Given the description of an element on the screen output the (x, y) to click on. 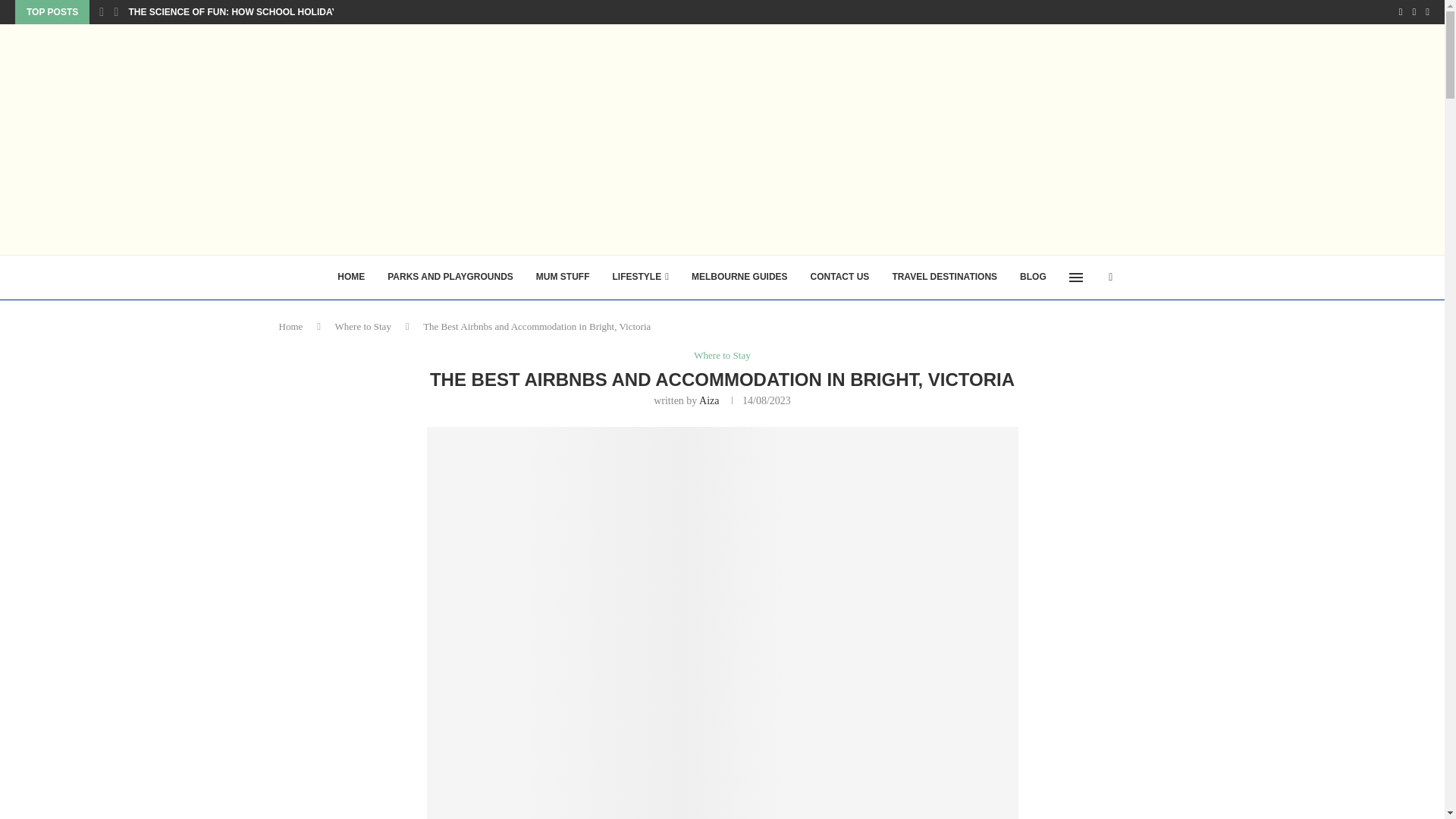
THE SCIENCE OF FUN: HOW SCHOOL HOLIDAY PROGRAMS... (264, 12)
HOME (350, 277)
MUM STUFF (562, 277)
Aiza (708, 400)
Where to Stay (721, 355)
CONTACT US (839, 277)
MELBOURNE GUIDES (739, 277)
PARKS AND PLAYGROUNDS (449, 277)
LIFESTYLE (639, 277)
